Given the description of an element on the screen output the (x, y) to click on. 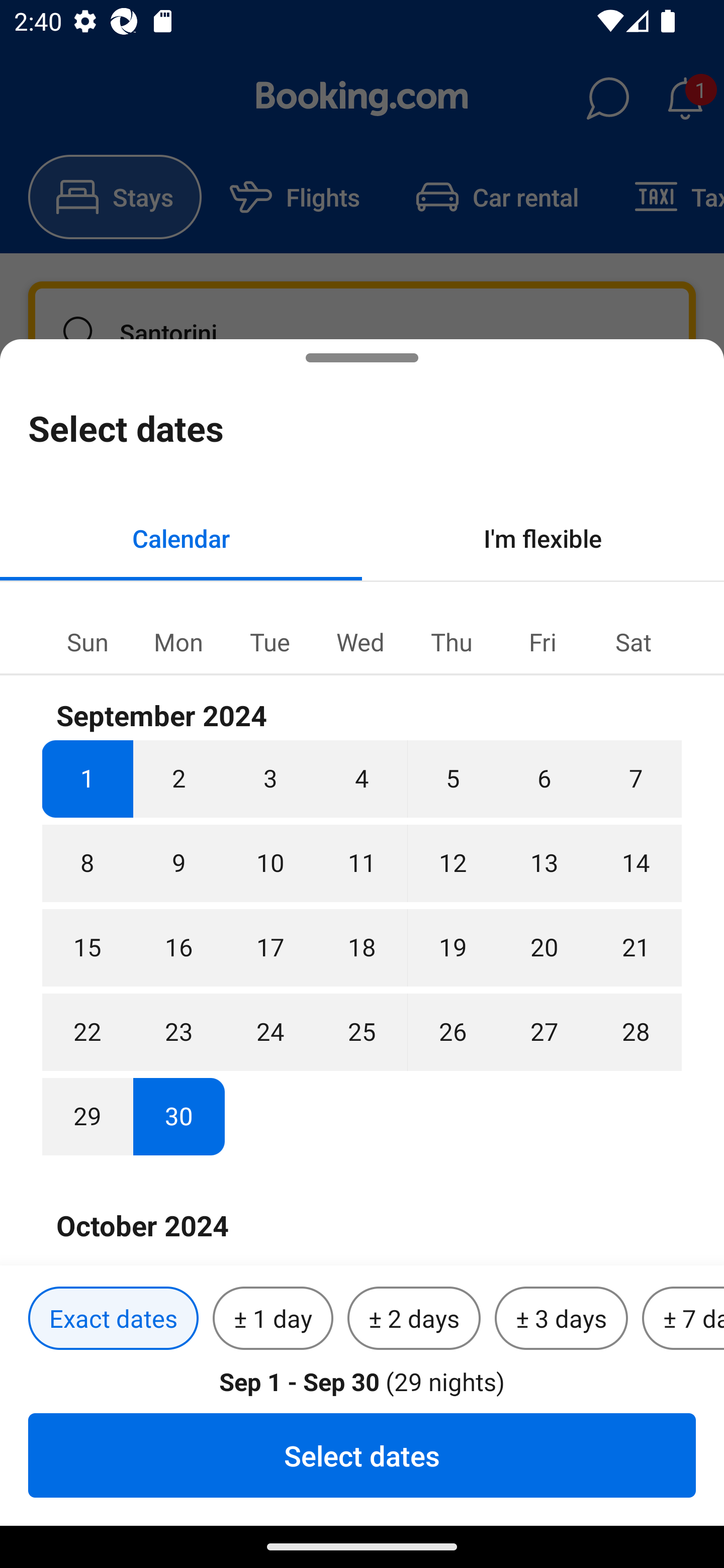
I'm flexible (543, 537)
Exact dates (113, 1318)
± 1 day (272, 1318)
± 2 days (413, 1318)
± 3 days (560, 1318)
± 7 days (683, 1318)
Select dates (361, 1454)
